Given the description of an element on the screen output the (x, y) to click on. 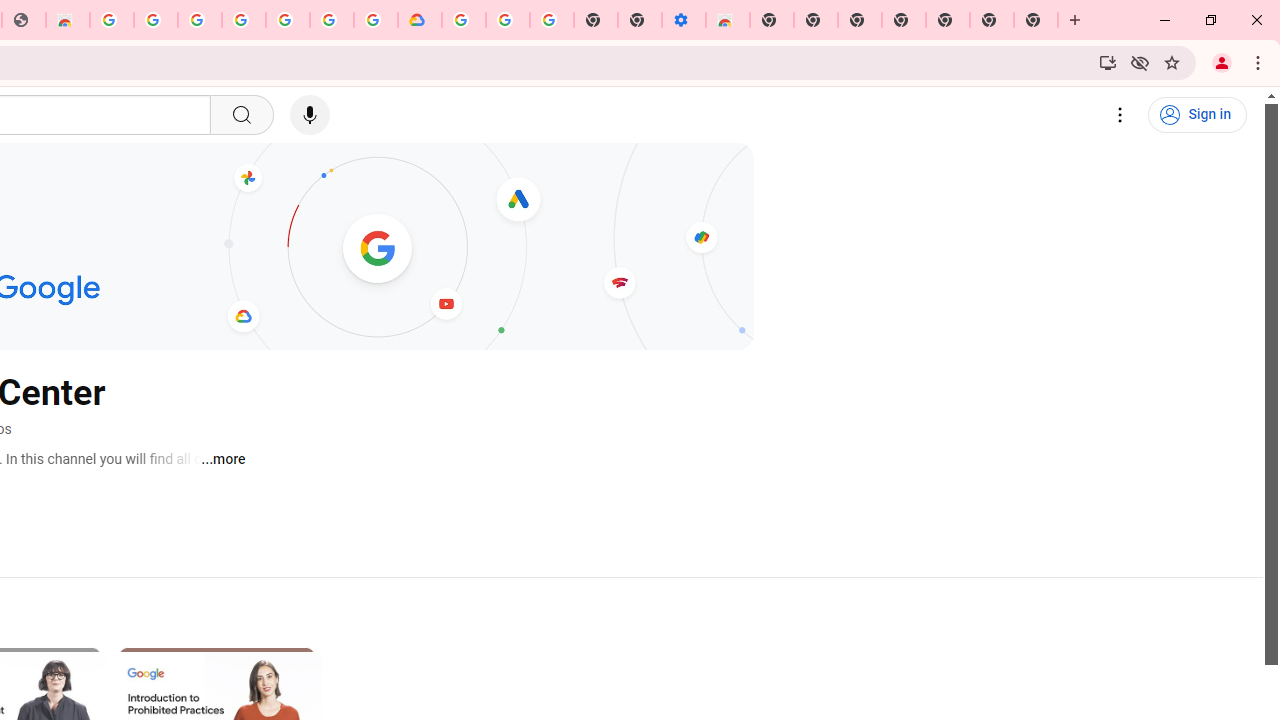
New Tab (1035, 20)
Sign in - Google Accounts (463, 20)
Turn cookies on or off - Computer - Google Account Help (551, 20)
Sign in - Google Accounts (199, 20)
Ad Settings (155, 20)
Chrome Web Store - Accessibility extensions (728, 20)
Chrome Web Store - Household (67, 20)
New Tab (947, 20)
